Given the description of an element on the screen output the (x, y) to click on. 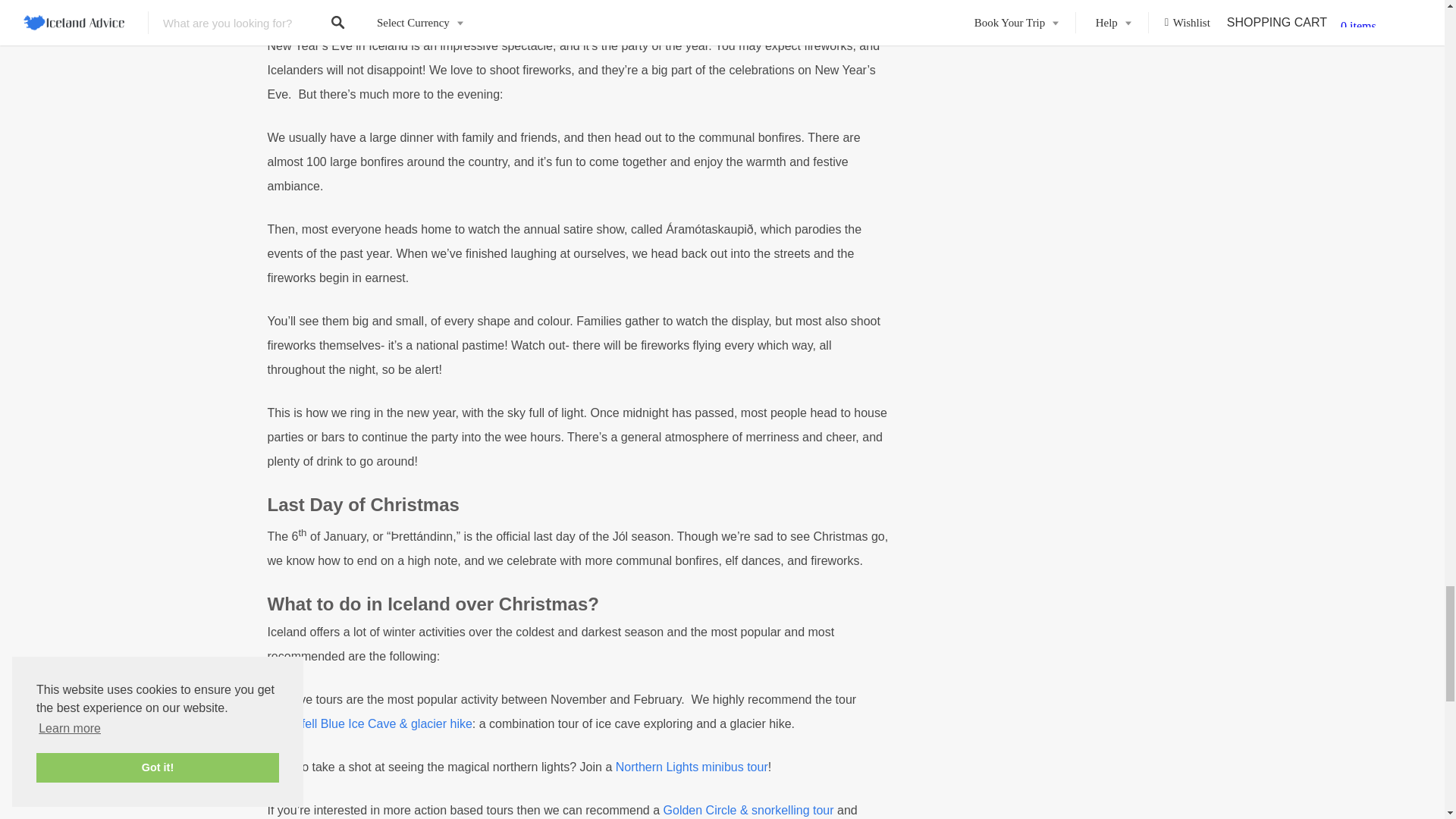
Northern Lights minibus tour (691, 766)
